Given the description of an element on the screen output the (x, y) to click on. 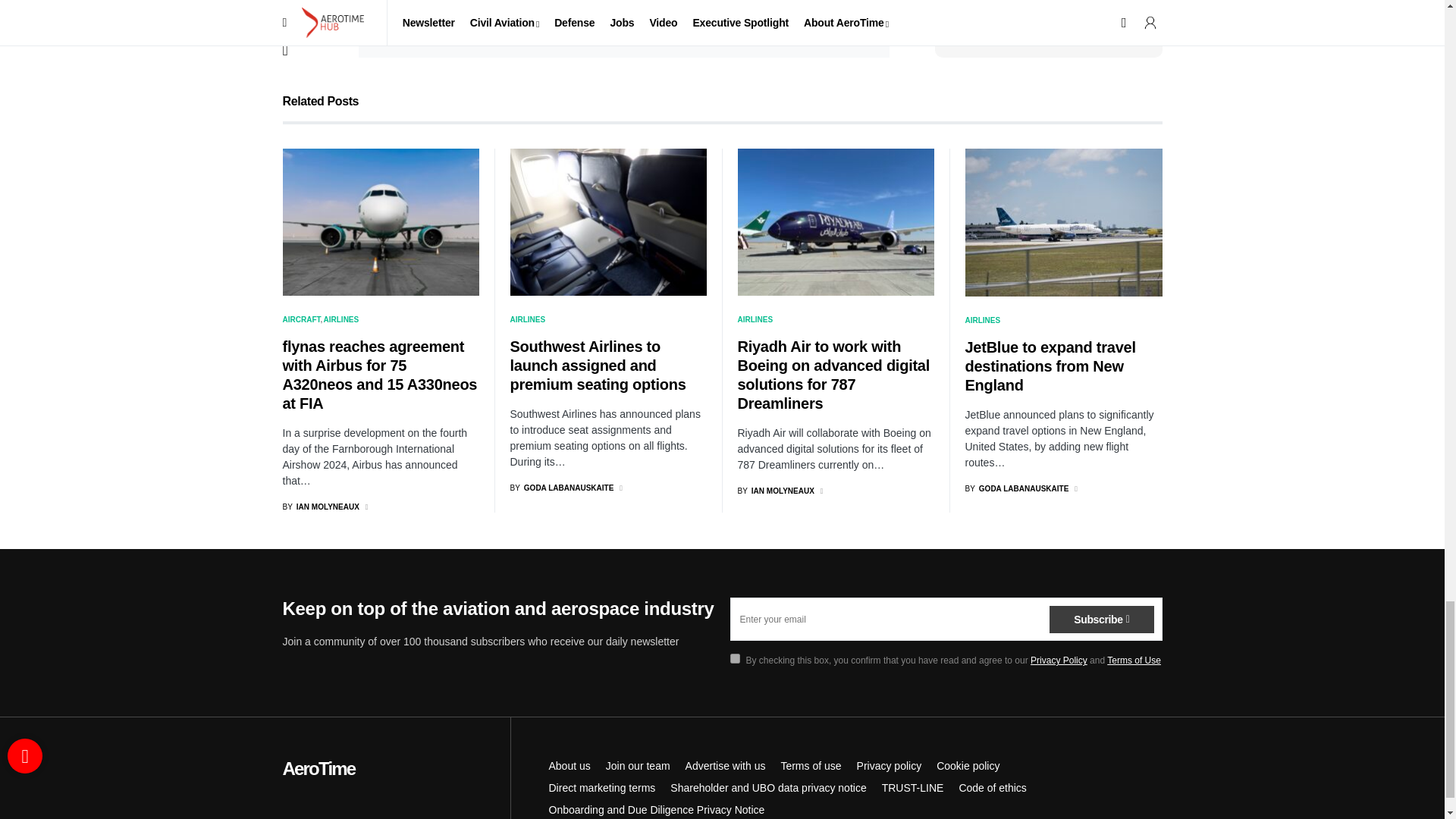
on (734, 658)
View all posts by Goda Labanauskaite (1015, 488)
View all posts by Ian Molyneaux (774, 490)
on (392, 18)
View all posts by Ian Molyneaux (320, 506)
View all posts by Goda Labanauskaite (560, 487)
